Given the description of an element on the screen output the (x, y) to click on. 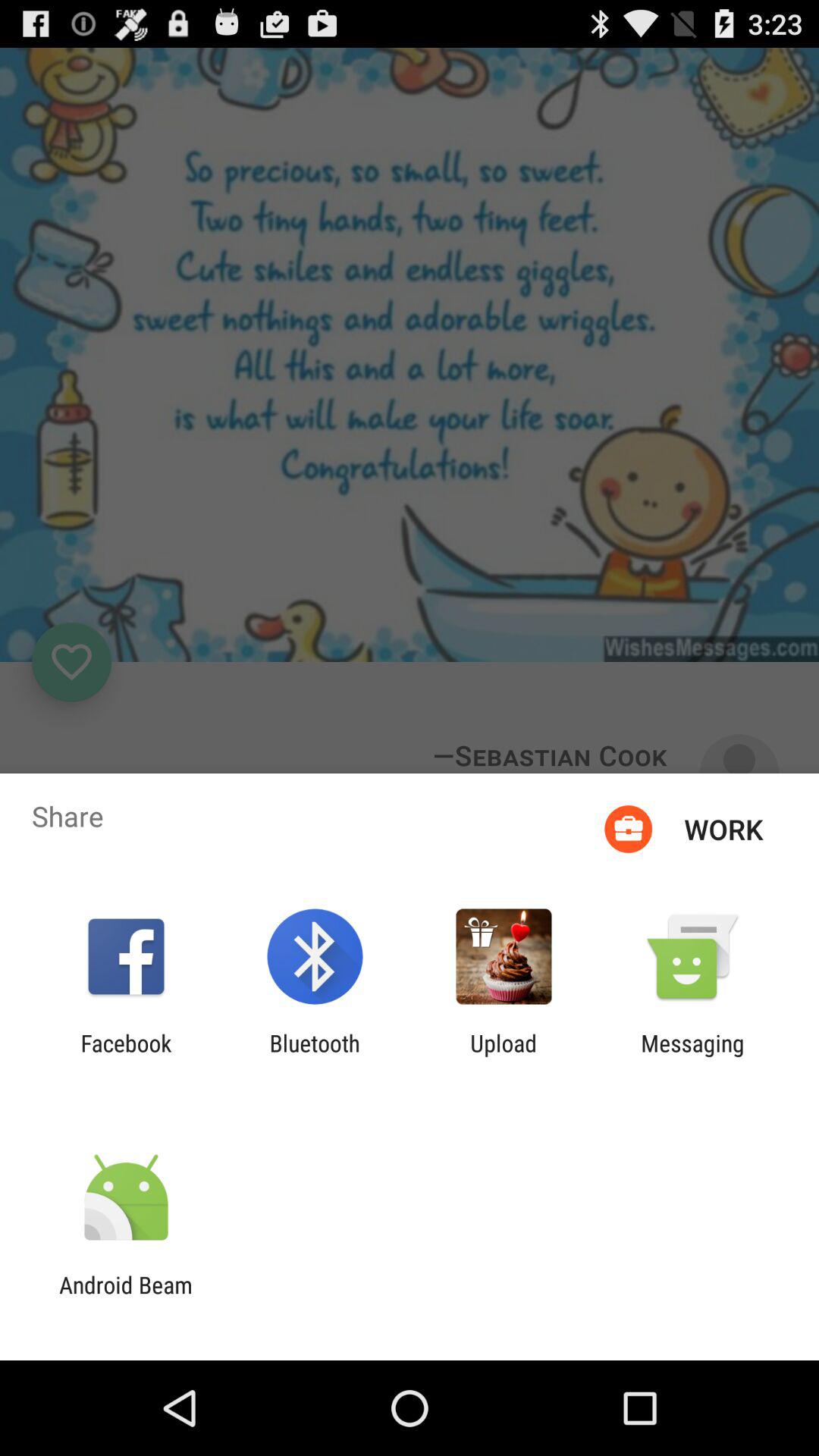
swipe to bluetooth item (314, 1056)
